Given the description of an element on the screen output the (x, y) to click on. 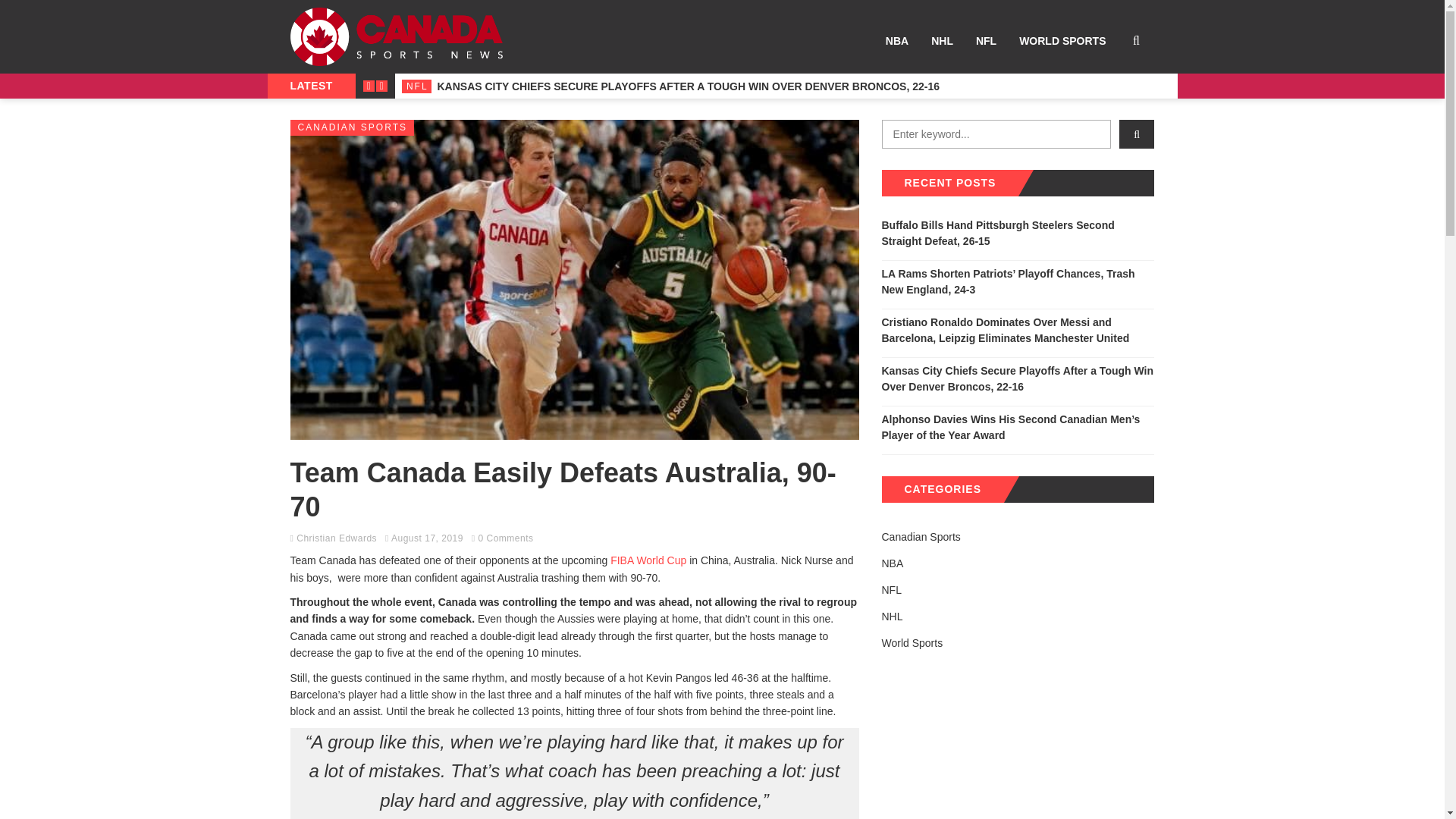
Posts by Christian Edwards (337, 538)
WORLD SPORTS (1061, 40)
CANADIAN SPORTS (351, 127)
NBA (897, 40)
Christian Edwards (337, 538)
NFL (415, 86)
FIBA World Cup (647, 560)
NHL (941, 40)
NFL (985, 40)
0 Comments (504, 538)
